Given the description of an element on the screen output the (x, y) to click on. 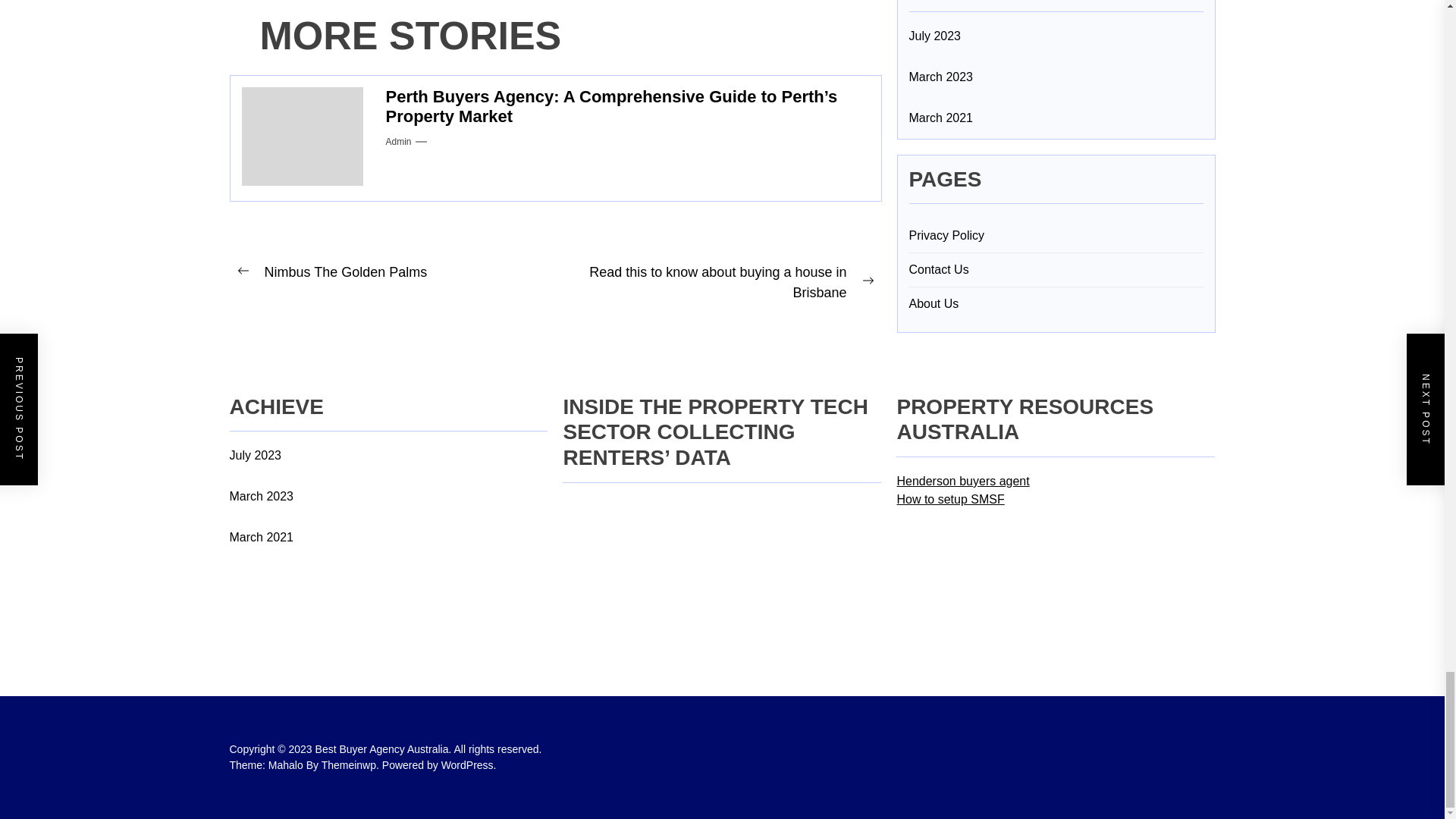
Best Buyer Agency Australia (384, 748)
YouTube video player (676, 554)
WordPress (468, 765)
Themeinwp (351, 765)
